Given the description of an element on the screen output the (x, y) to click on. 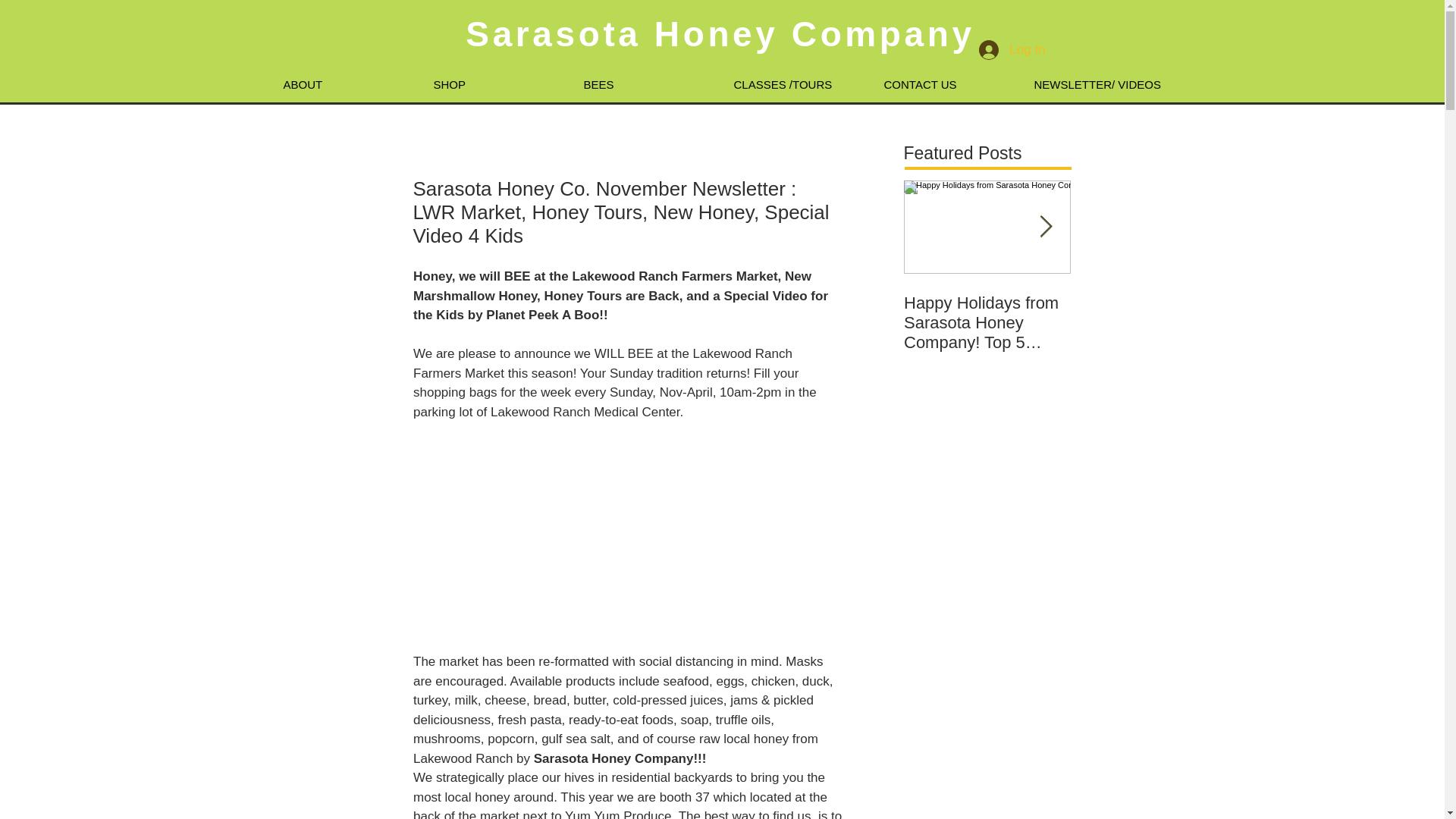
Log In (1011, 49)
CONTACT US (947, 84)
ABOUT (346, 84)
